Given the description of an element on the screen output the (x, y) to click on. 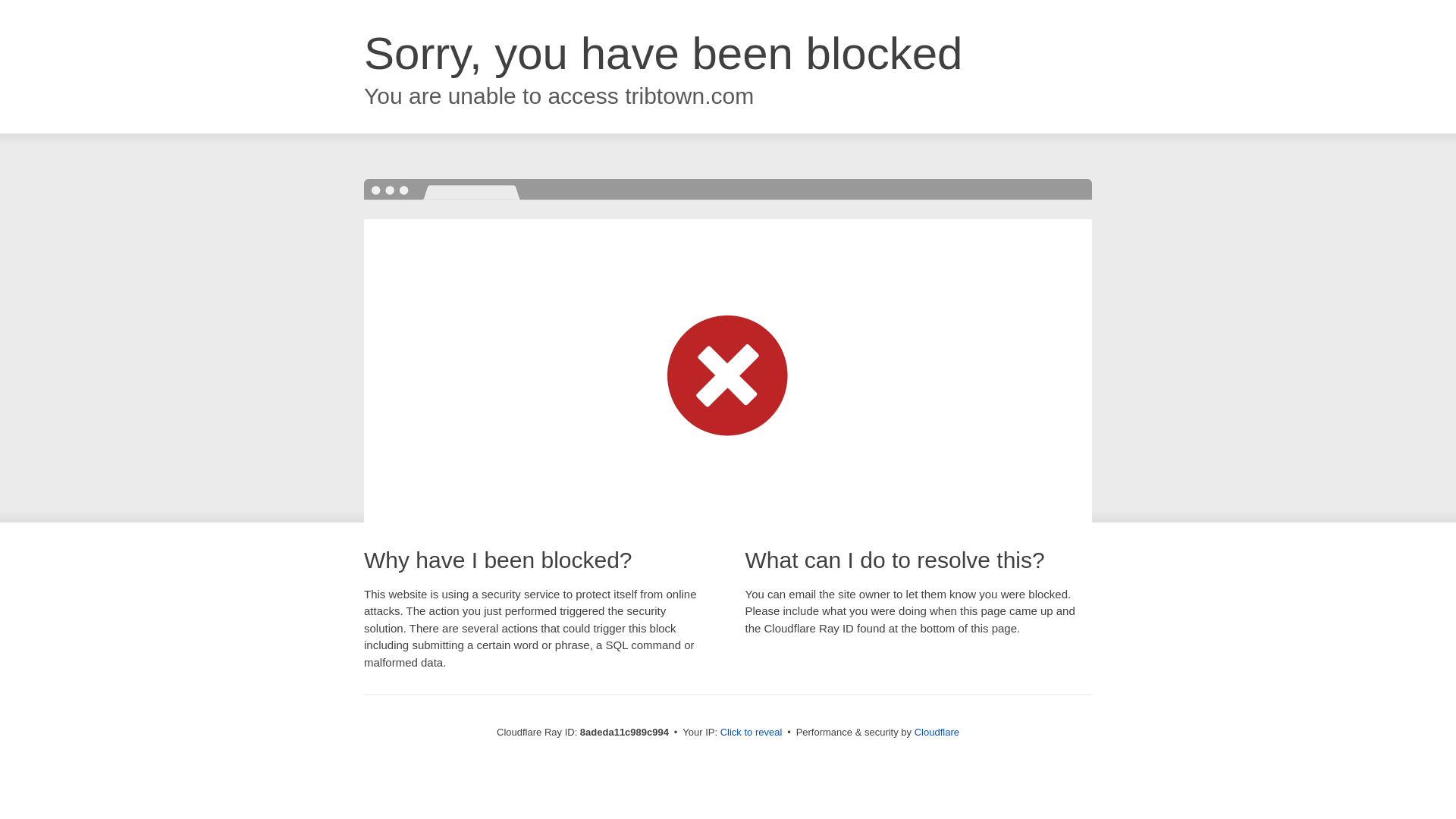
Click to reveal (751, 732)
Cloudflare (936, 731)
